Given the description of an element on the screen output the (x, y) to click on. 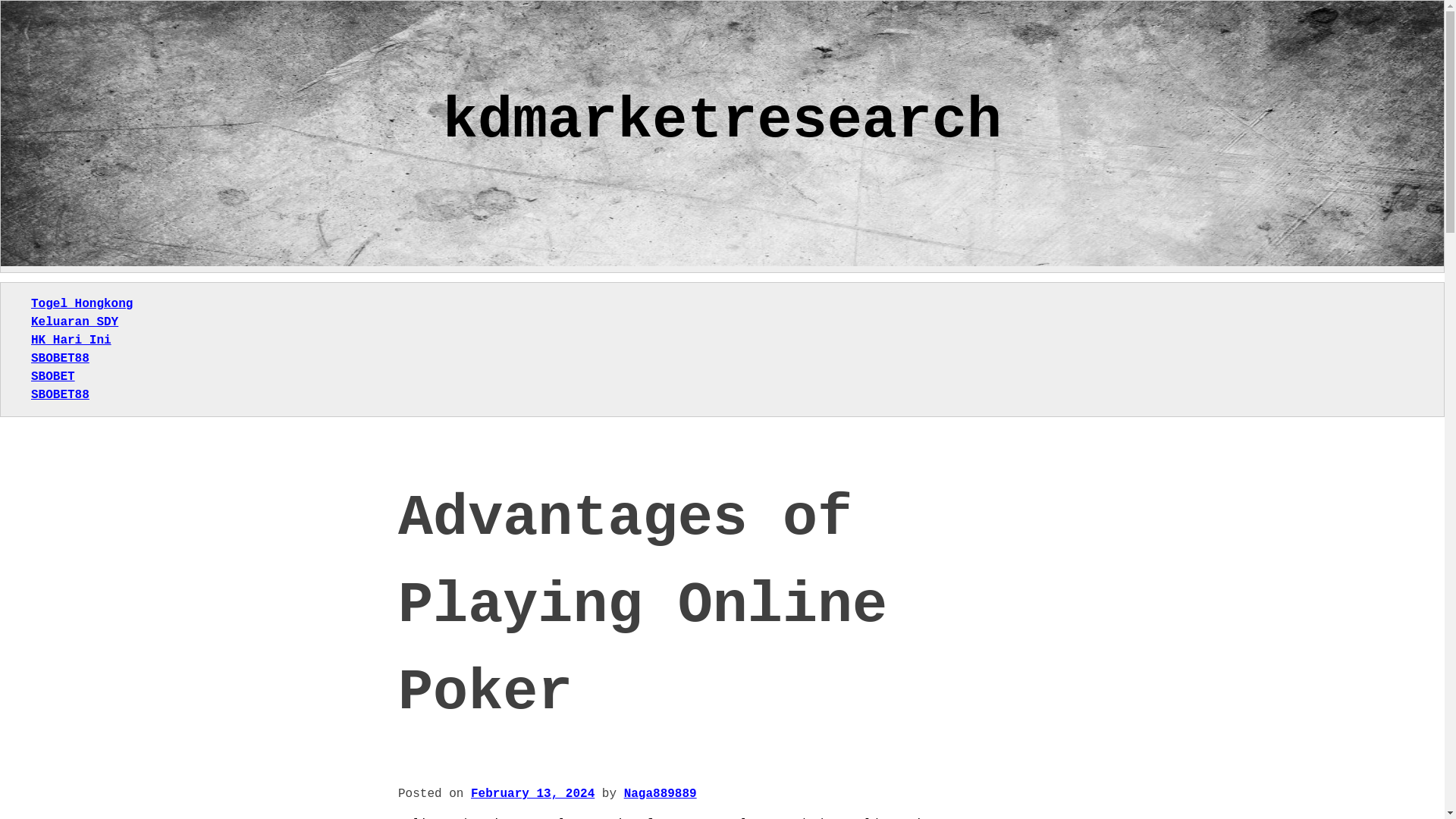
HK Hari Ini (71, 340)
kdmarketresearch (721, 120)
February 13, 2024 (532, 793)
Togel Hongkong (81, 304)
SBOBET (52, 377)
Keluaran SDY (73, 322)
SBOBET88 (59, 358)
SBOBET88 (59, 395)
Naga889889 (660, 793)
